Given the description of an element on the screen output the (x, y) to click on. 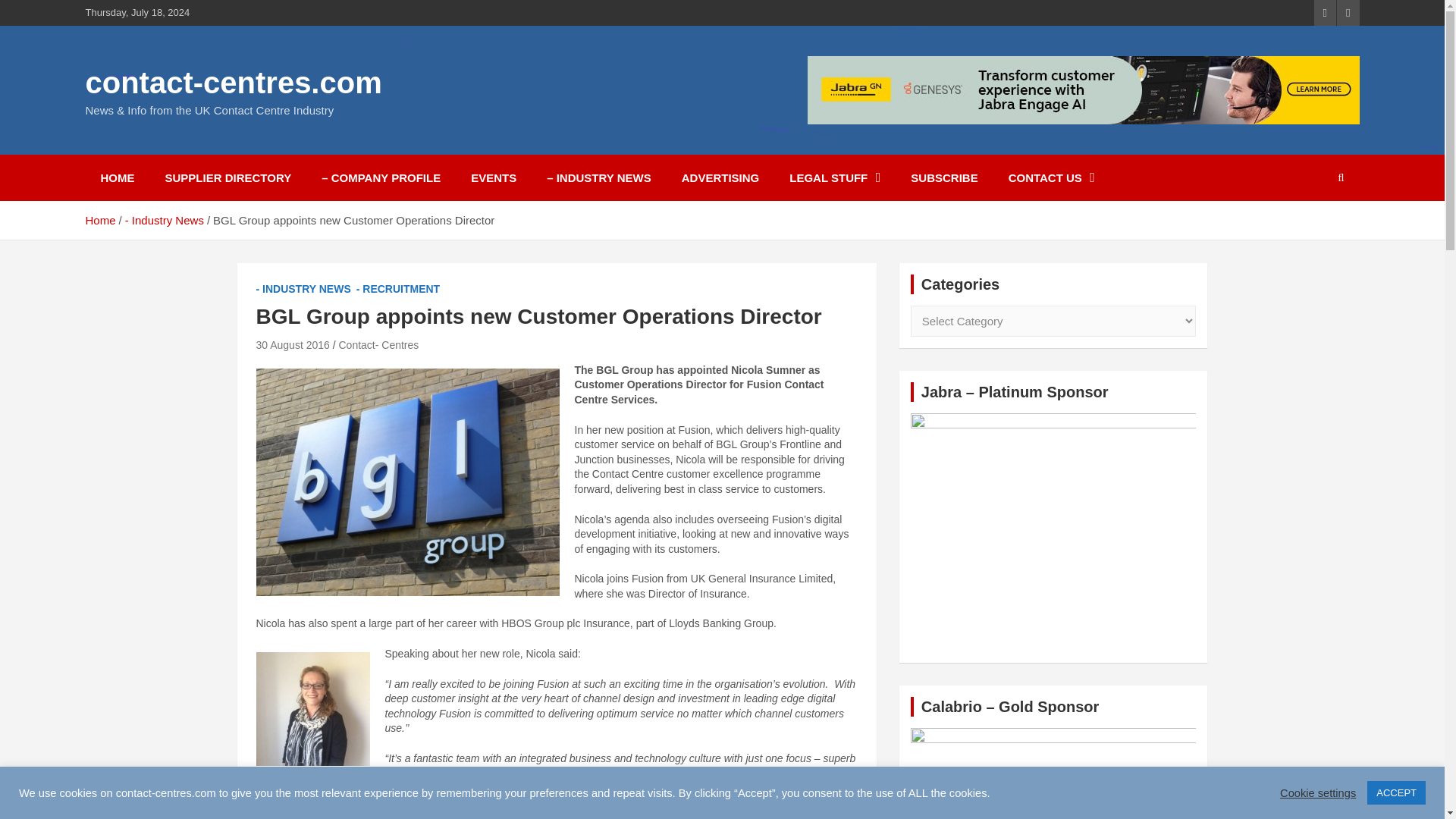
Home (99, 219)
BGL Group appoints new Customer Operations Director (293, 345)
- RECRUITMENT (397, 289)
contact-centres.com (232, 82)
- Industry News (164, 219)
CONTACT US (1050, 177)
SUPPLIER DIRECTORY (228, 177)
- INDUSTRY NEWS (303, 289)
SUBSCRIBE (943, 177)
Contact- Centres (378, 345)
ADVERTISING (720, 177)
HOME (116, 177)
30 August 2016 (293, 345)
LEGAL STUFF (834, 177)
EVENTS (493, 177)
